Given the description of an element on the screen output the (x, y) to click on. 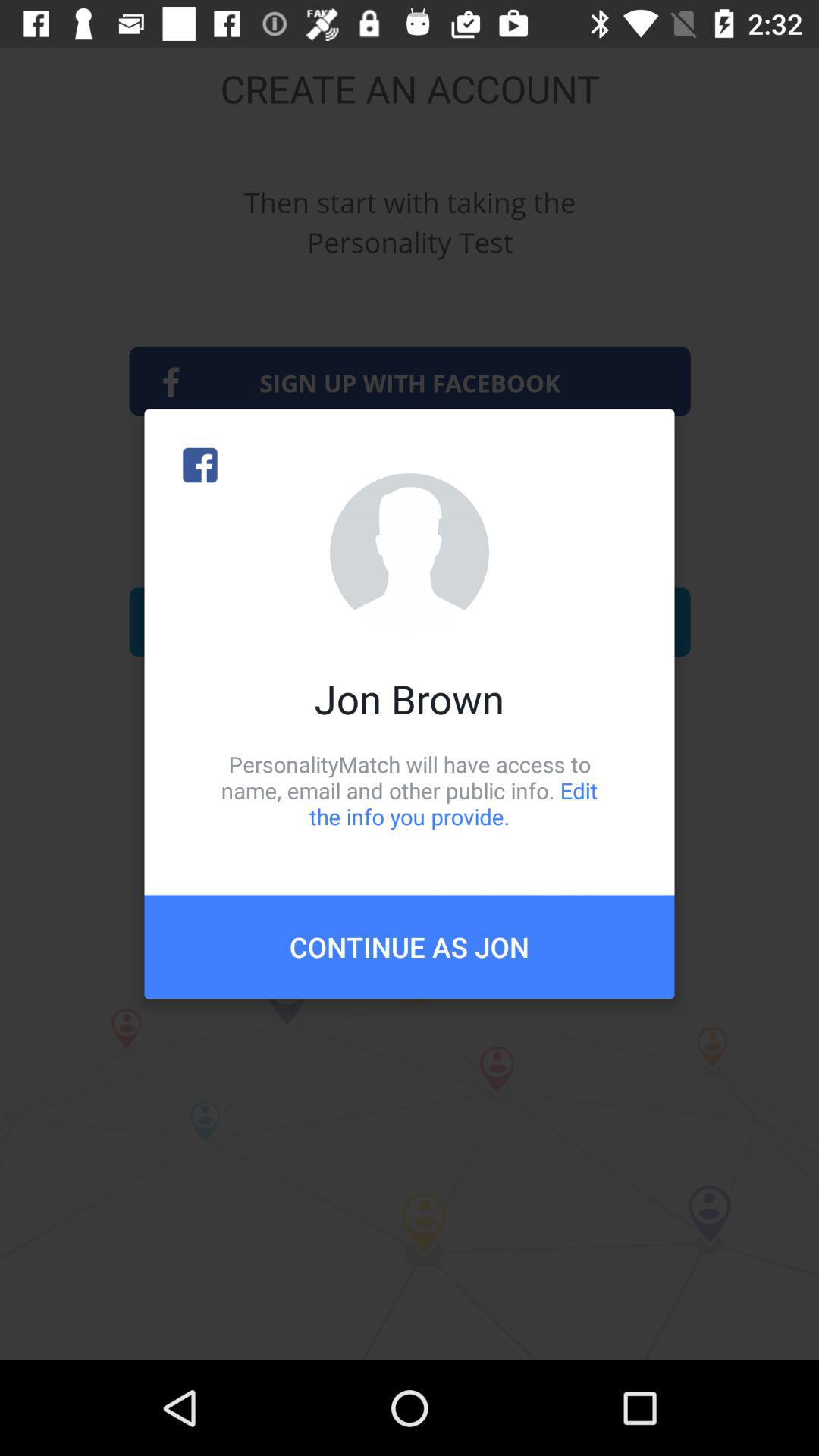
press item below the jon brown item (409, 790)
